Given the description of an element on the screen output the (x, y) to click on. 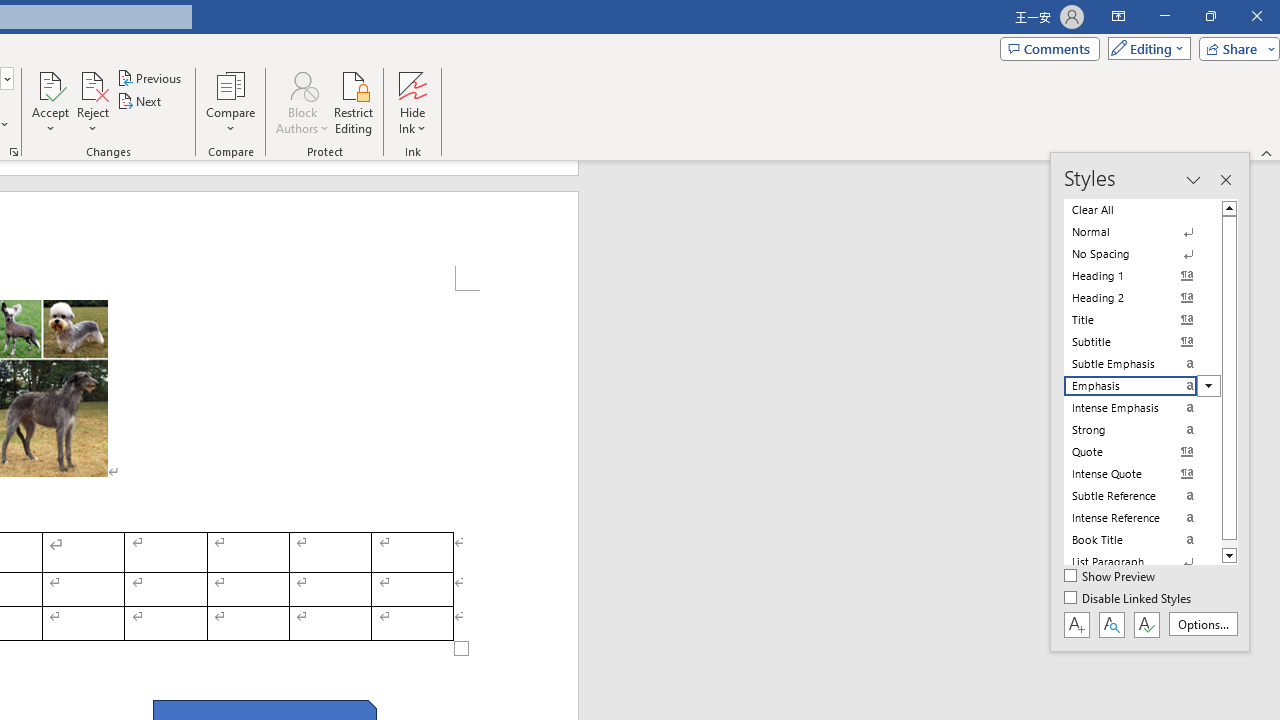
Previous (150, 78)
Next (140, 101)
Reject (92, 102)
Intense Quote (1142, 473)
Class: NetUIButton (1146, 624)
Emphasis (1142, 385)
Normal (1142, 232)
Subtle Reference (1142, 495)
Clear All (1142, 209)
